Given the description of an element on the screen output the (x, y) to click on. 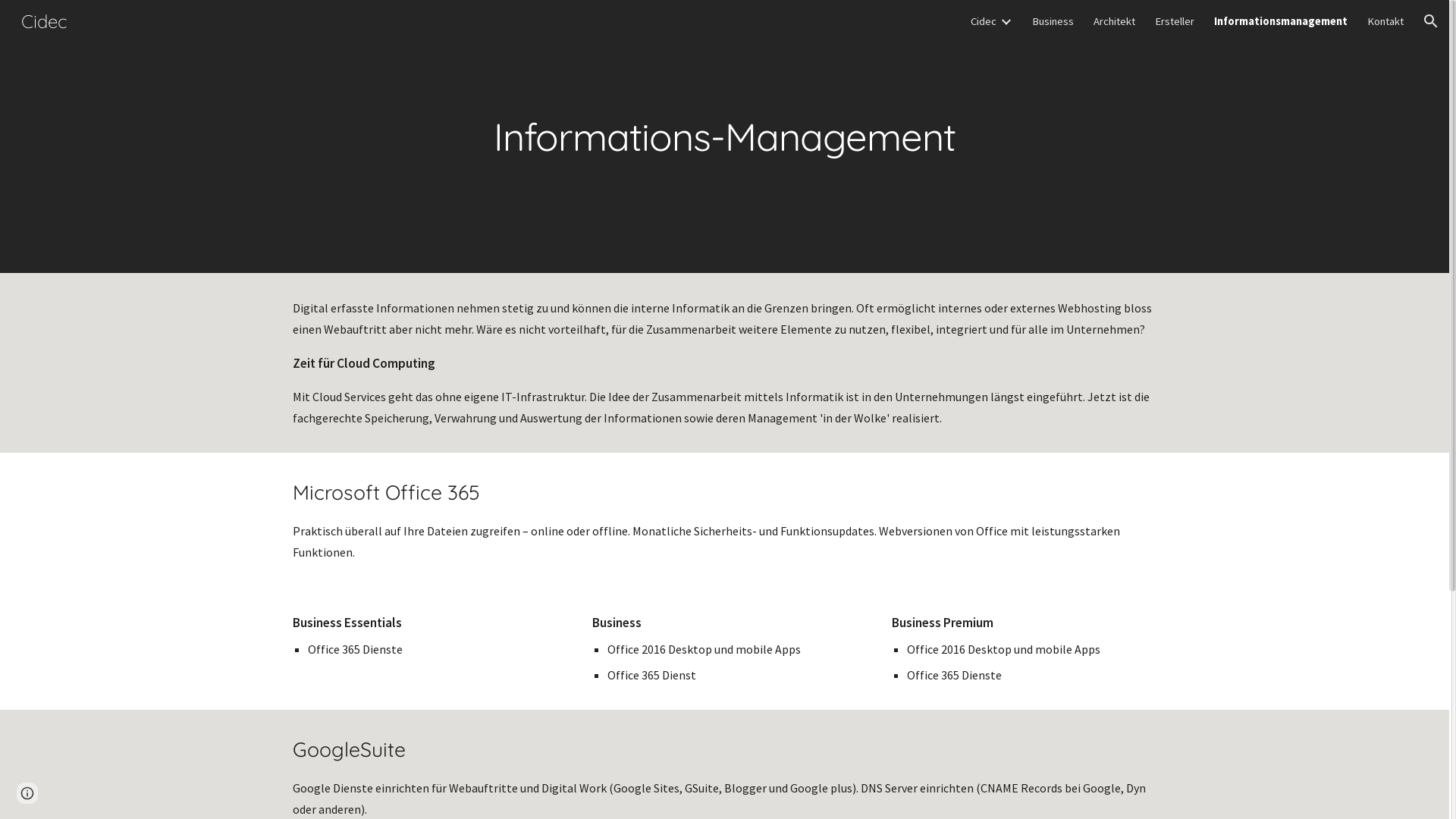
Expand/Collapse Element type: hover (1005, 21)
Ersteller Element type: text (1174, 21)
Informationsmanagement Element type: text (1280, 21)
Kontakt Element type: text (1385, 21)
Architekt Element type: text (1114, 21)
Business Element type: text (1052, 21)
Cidec Element type: text (43, 18)
Cidec Element type: text (983, 21)
